Given the description of an element on the screen output the (x, y) to click on. 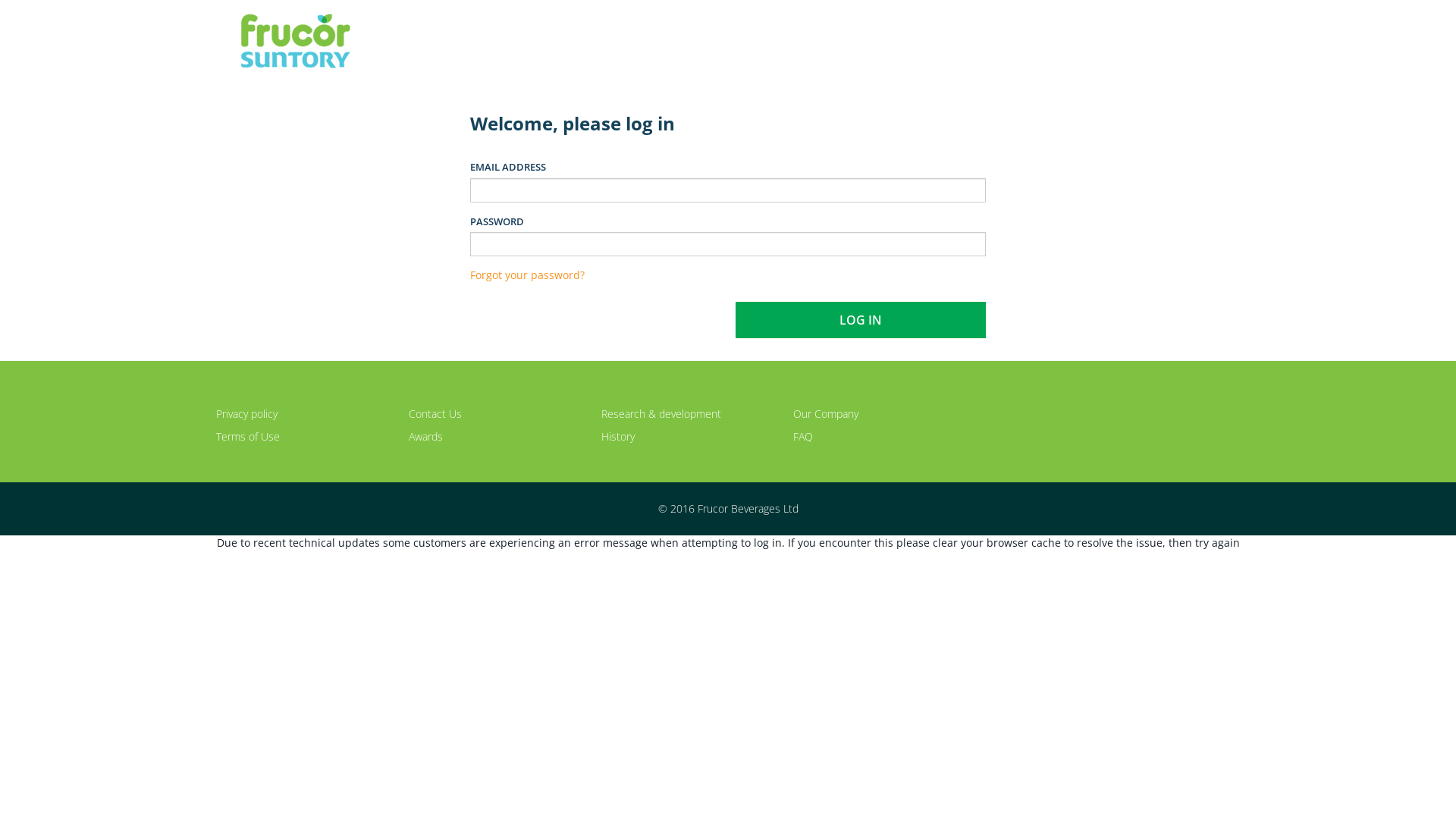
Forgot your password? Element type: text (527, 274)
Research & development Element type: text (660, 413)
Frucor Beverages Ltd Element type: hover (295, 40)
History Element type: text (616, 436)
FAQ Element type: text (802, 436)
Awards Element type: text (425, 436)
Privacy policy Element type: text (246, 413)
Terms of Use Element type: text (247, 436)
Contact Us Element type: text (434, 413)
LOG IN Element type: text (860, 319)
Our Company Element type: text (825, 413)
